Given the description of an element on the screen output the (x, y) to click on. 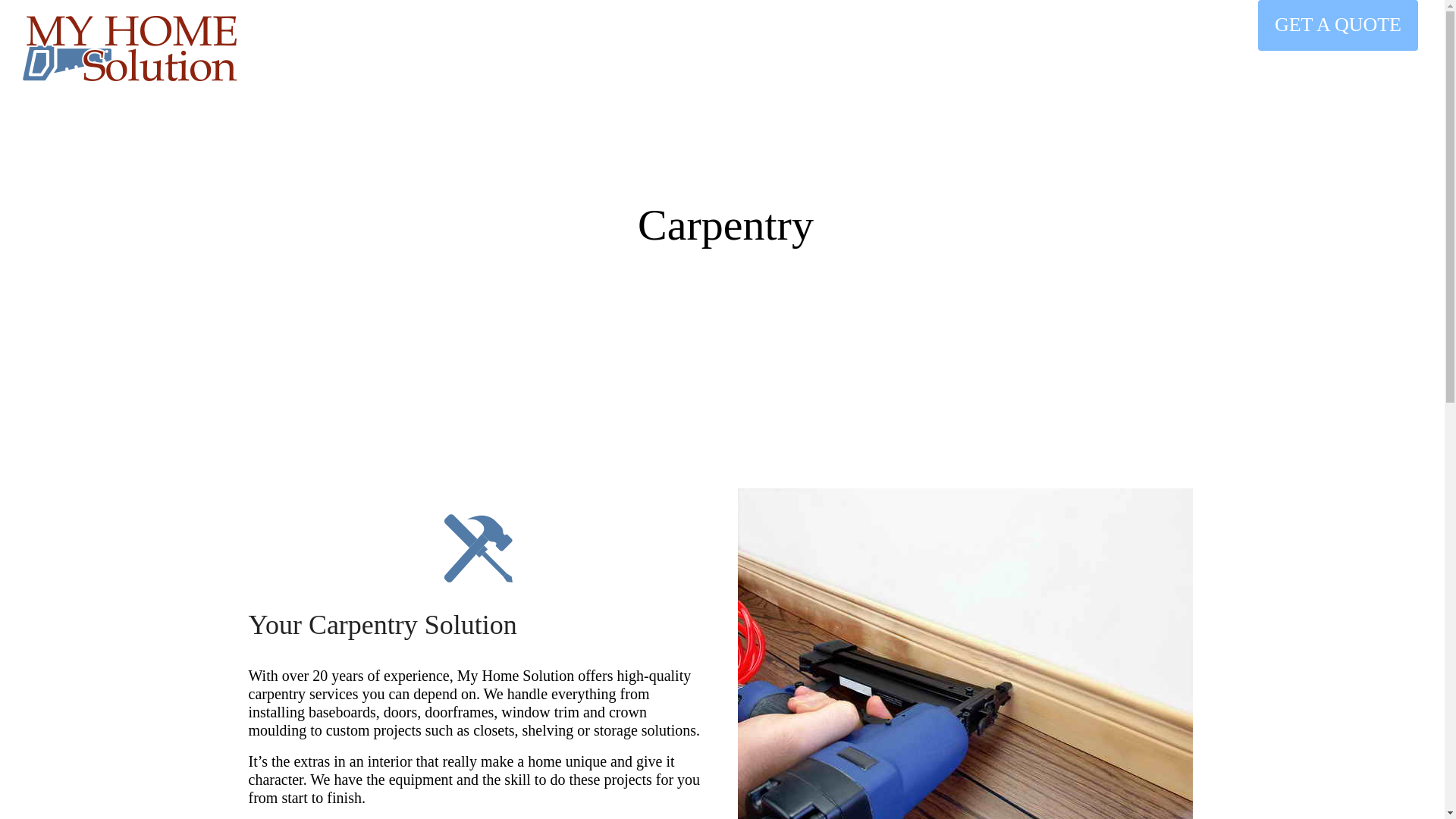
My Home Solutions (130, 47)
Home (287, 49)
Gallery (520, 49)
GET A QUOTE (1337, 25)
Contact (597, 49)
Gallery (520, 49)
Contact (597, 49)
About (354, 49)
carpentryicon (477, 548)
Services (435, 49)
About (354, 49)
Services (435, 49)
Home (287, 49)
GET A QUOTE (1337, 25)
